Given the description of an element on the screen output the (x, y) to click on. 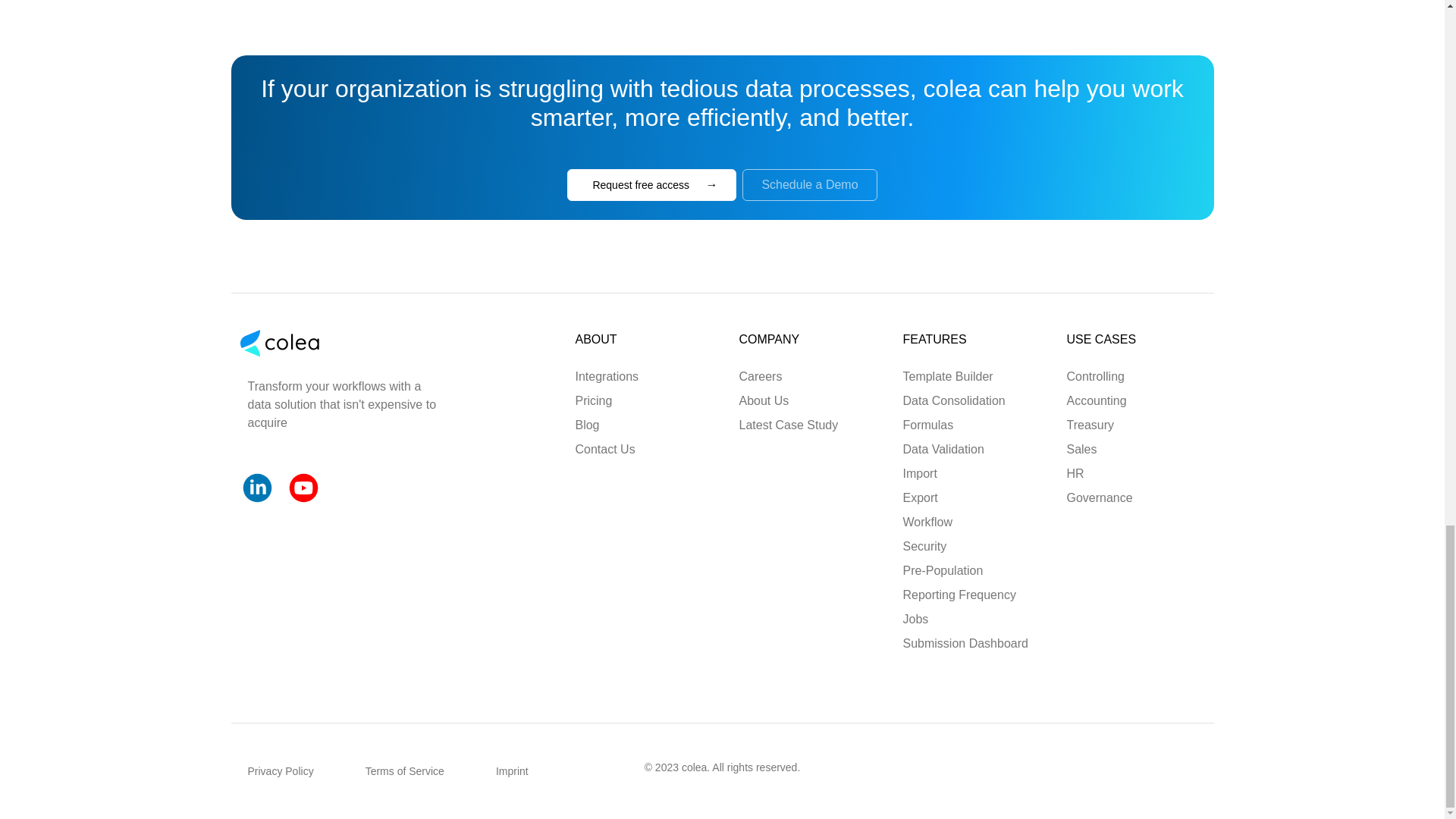
Controlling (1094, 375)
Accounting (1096, 400)
HR (1074, 473)
Latest Case Study (787, 425)
Security (924, 546)
Data Consolidation (953, 400)
About Us (763, 400)
Careers (759, 375)
Data Validation (943, 448)
Schedule a Demo (809, 184)
Blog (587, 425)
Formulas (927, 425)
Integrations (606, 375)
Export (919, 497)
Treasury (1089, 425)
